Given the description of an element on the screen output the (x, y) to click on. 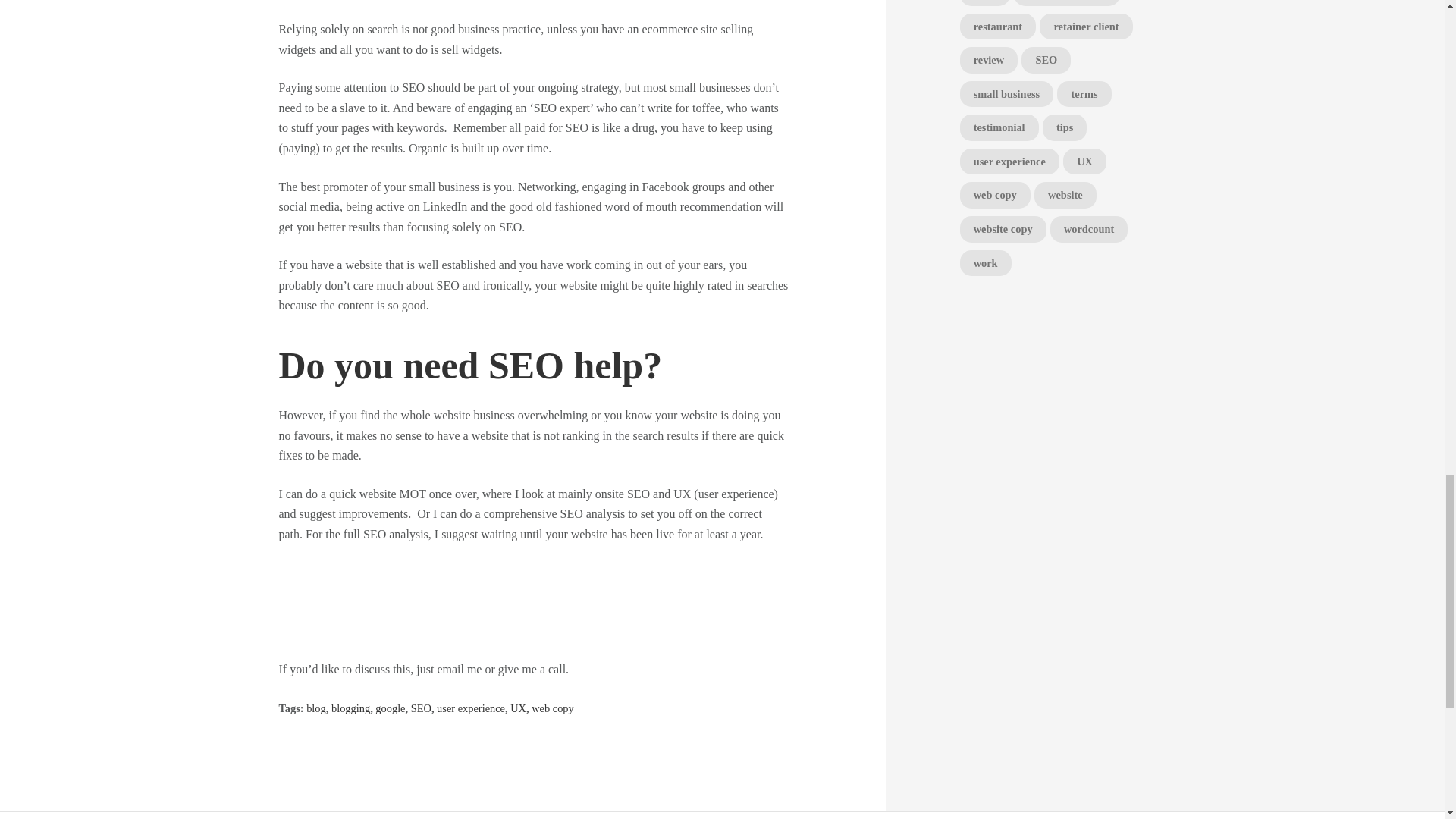
user experience (470, 707)
web copy (552, 707)
SEO (420, 707)
blogging (350, 707)
UX (518, 707)
blog (315, 707)
google (389, 707)
